Given the description of an element on the screen output the (x, y) to click on. 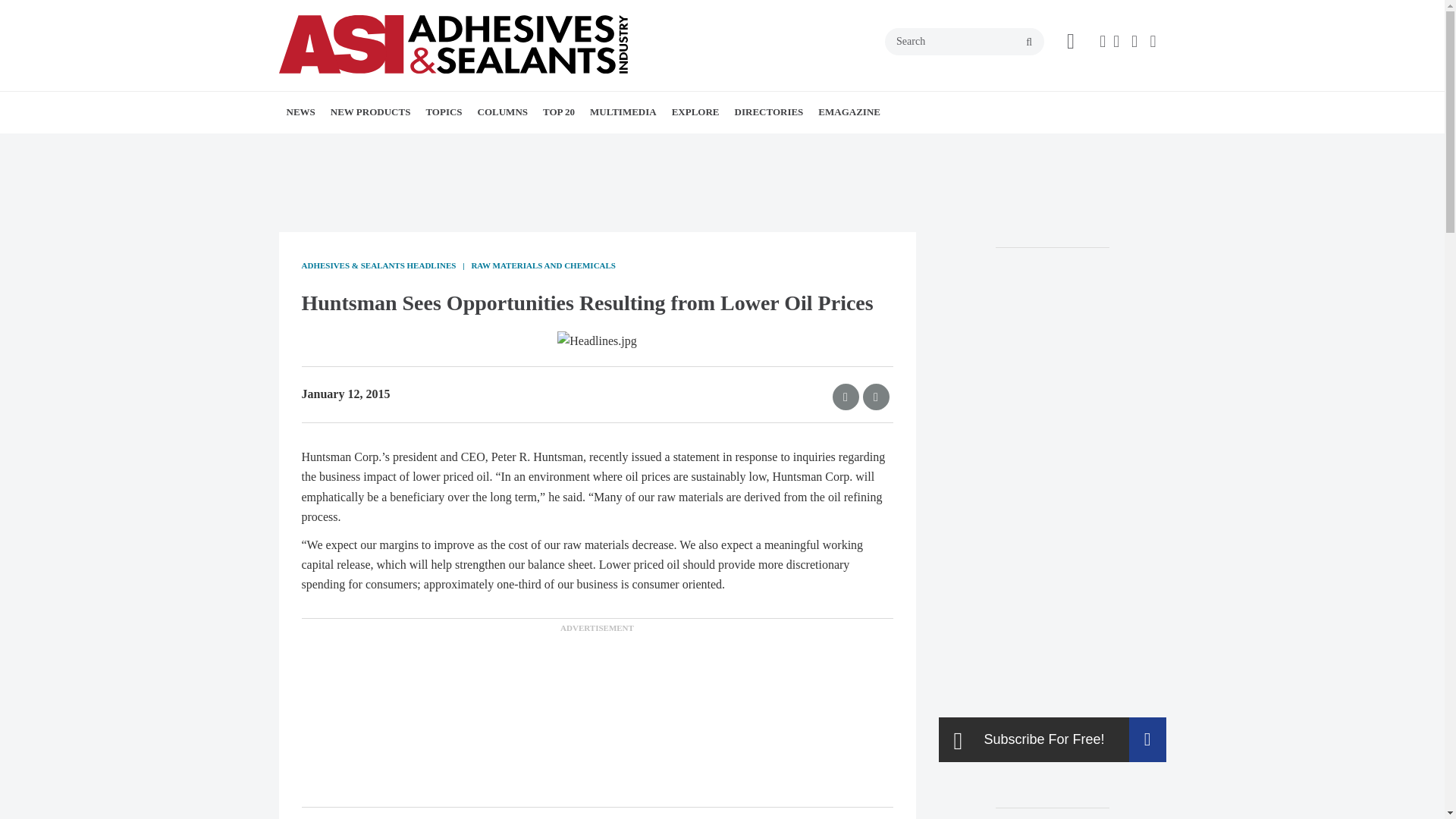
SPECIALTY CHEMICALS INSIGHTS (577, 145)
search (1029, 42)
linkedin (1136, 41)
NEW PRODUCTS (371, 111)
facebook (1102, 41)
Search (964, 41)
RAW MATERIALS AND CHEMICALS (538, 154)
COATINGS (533, 145)
EVENTS CALENDAR (398, 145)
FINISHED ADHESIVES AND SEALANTS (512, 154)
TOPICS (442, 111)
Search (964, 41)
COMPOSITES (562, 145)
MARKET TRENDS (402, 145)
cart (1070, 41)
